Given the description of an element on the screen output the (x, y) to click on. 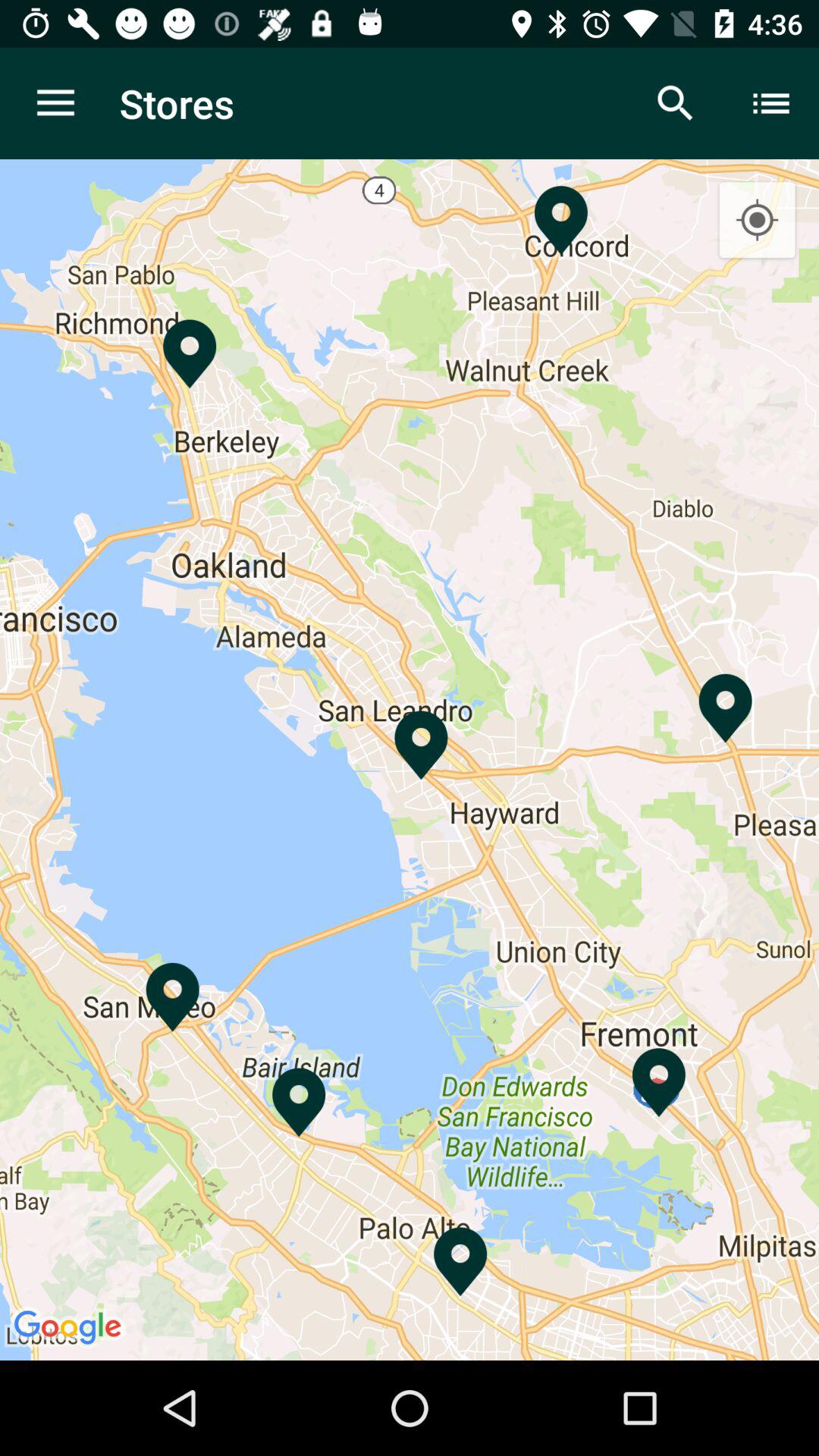
click the icon next to stores item (55, 103)
